Given the description of an element on the screen output the (x, y) to click on. 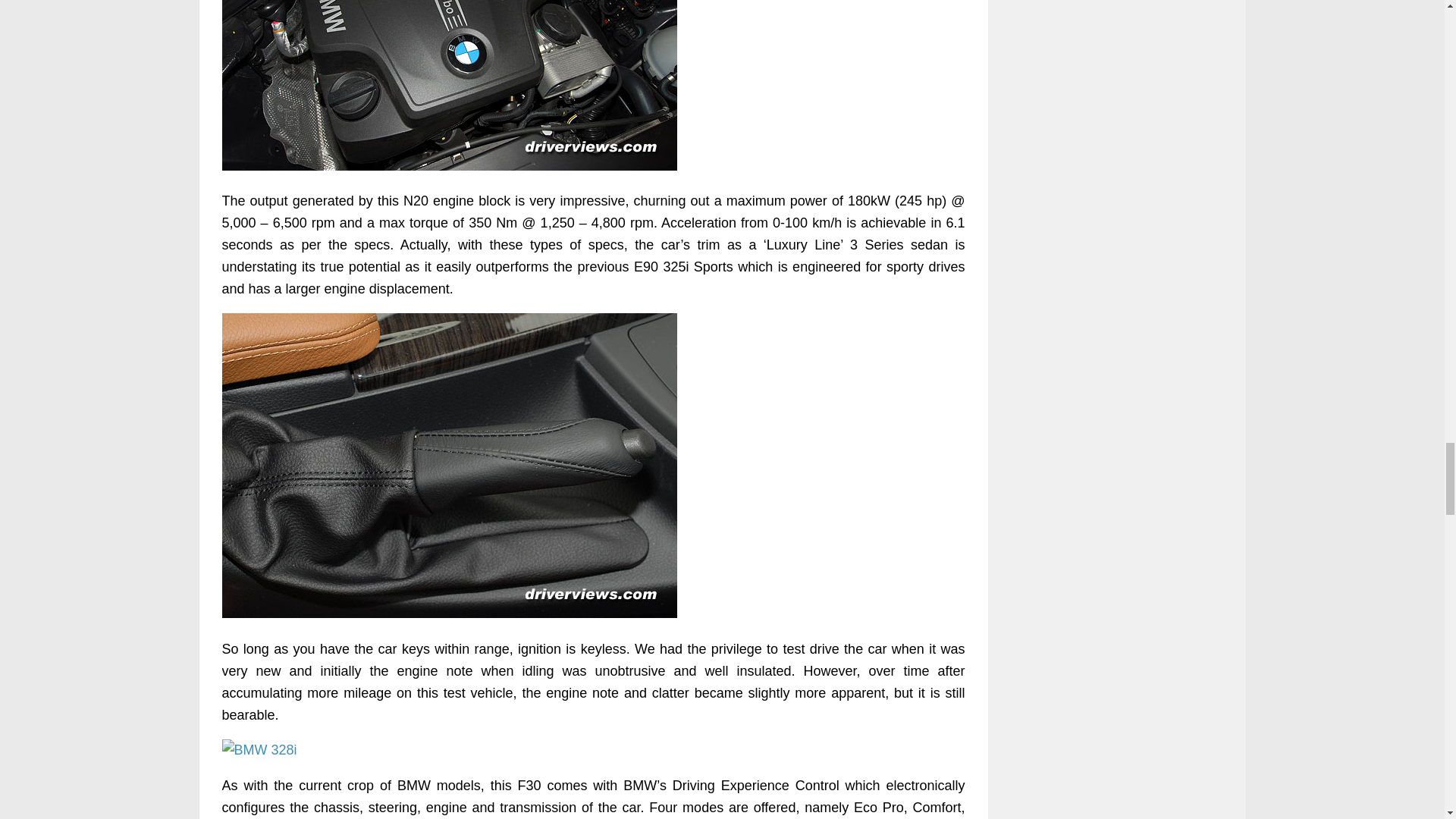
BMW 328i (449, 85)
BMW 328i (259, 750)
